Given the description of an element on the screen output the (x, y) to click on. 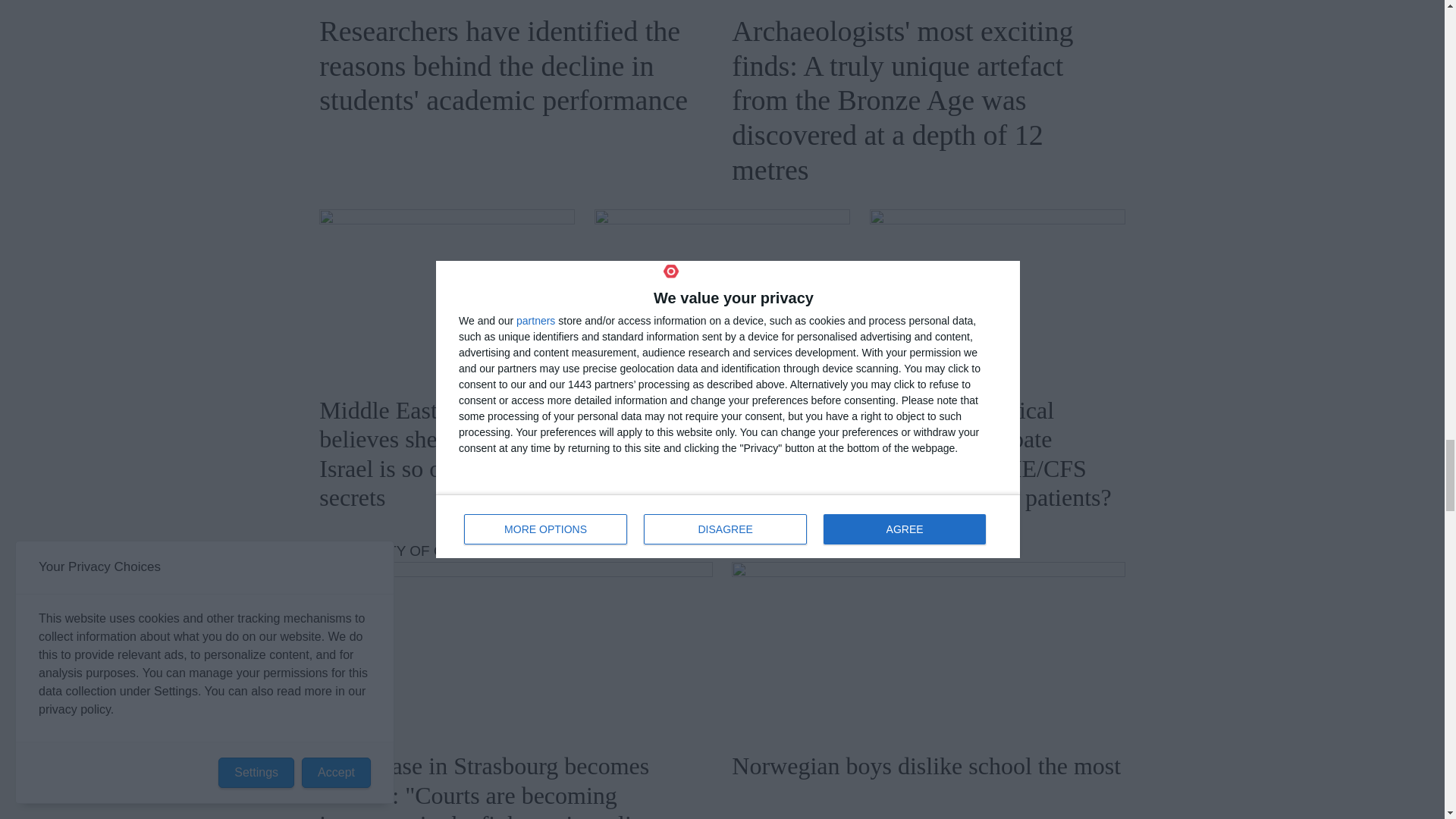
What did people use as rain gear in the past? (722, 296)
Norwegian boys dislike school the most (928, 650)
